Given the description of an element on the screen output the (x, y) to click on. 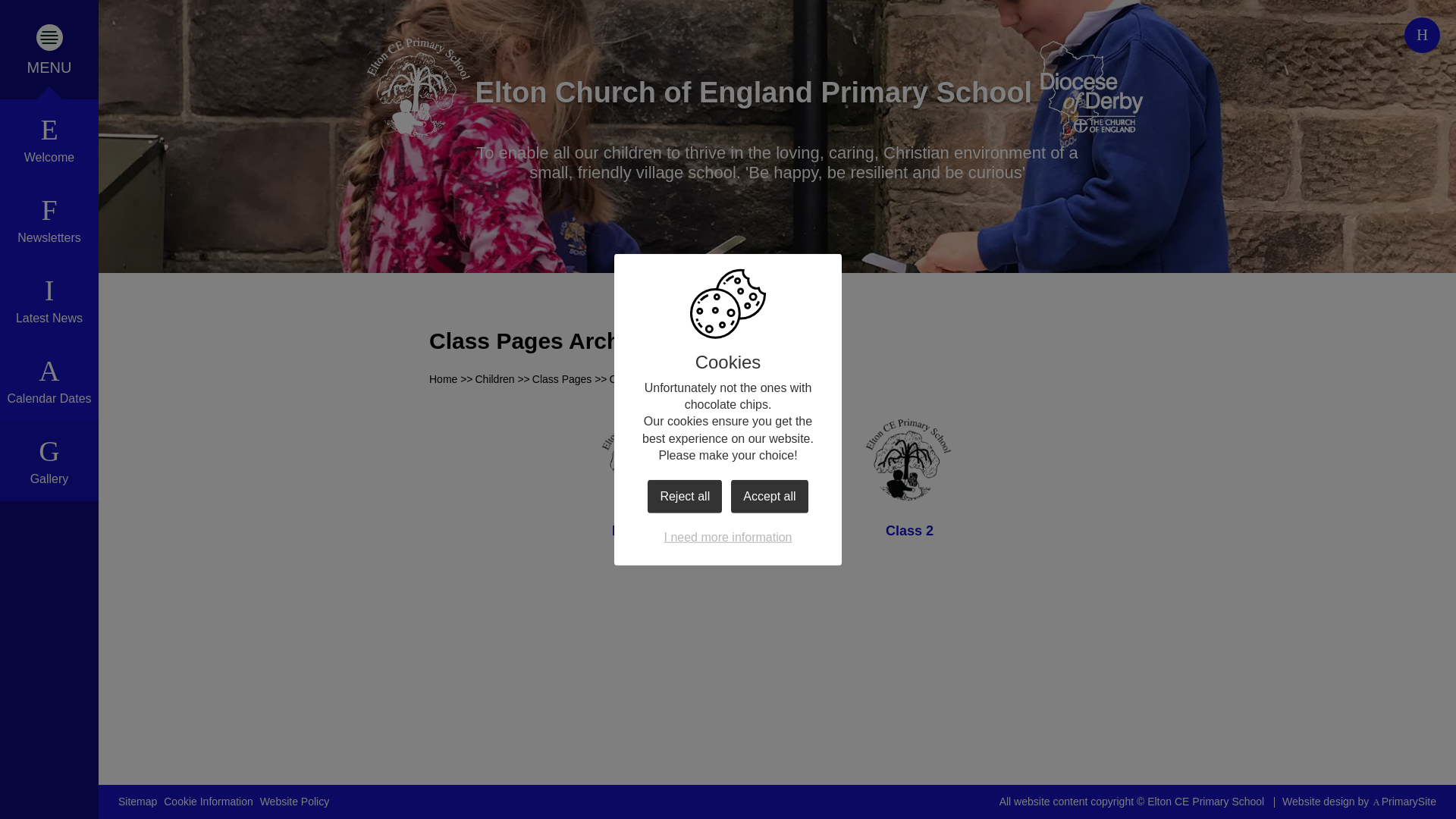
Log in (1422, 35)
Home (443, 378)
Class Pages (562, 378)
Children (493, 378)
Home Page (416, 87)
Class Pages Archive: 2023-2024 (686, 378)
